Given the description of an element on the screen output the (x, y) to click on. 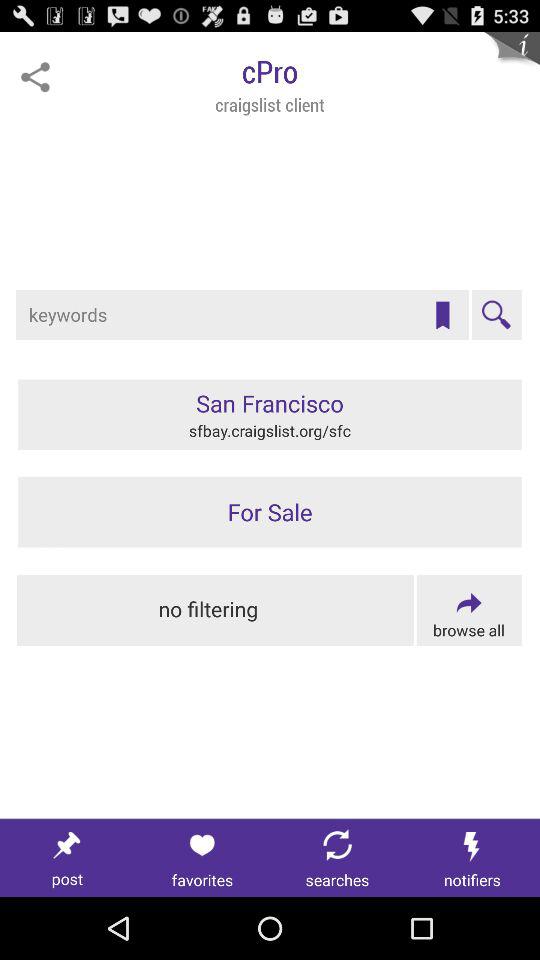
ping app (35, 77)
